Given the description of an element on the screen output the (x, y) to click on. 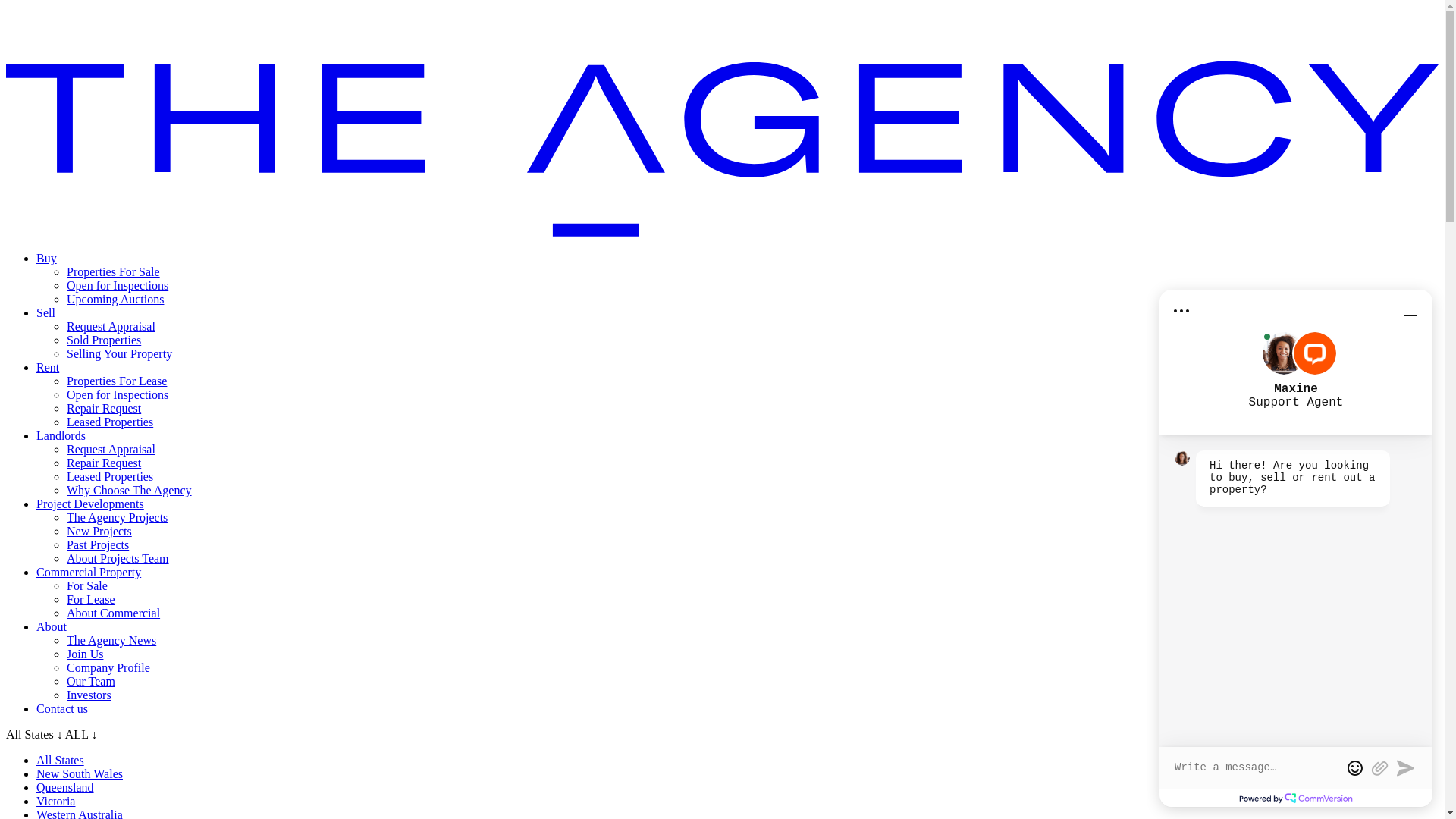
Properties For Lease Element type: text (116, 380)
For Lease Element type: text (90, 599)
The Agency Projects Element type: text (116, 517)
Queensland Element type: text (65, 787)
Past Projects Element type: text (97, 544)
Leased Properties Element type: text (109, 421)
For Sale Element type: text (86, 585)
Open for Inspections Element type: text (117, 394)
Commercial Property Element type: text (88, 571)
Properties For Sale Element type: text (113, 271)
Repair Request Element type: text (103, 462)
The Agency News Element type: text (111, 639)
Upcoming Auctions Element type: text (114, 298)
Victoria Element type: text (55, 800)
Buy Element type: text (46, 257)
New South Wales Element type: text (79, 773)
Request Appraisal Element type: text (110, 326)
About Commercial Element type: text (113, 612)
Why Choose The Agency Element type: text (128, 489)
Request Appraisal Element type: text (110, 448)
New Projects Element type: text (98, 530)
Project Developments Element type: text (90, 503)
Company Profile Element type: text (108, 667)
About Element type: text (51, 626)
Sell Element type: text (45, 312)
Selling Your Property Element type: text (119, 353)
Rent Element type: text (47, 366)
All States Element type: text (60, 759)
About Projects Team Element type: text (117, 558)
Contact us Element type: text (61, 708)
Sold Properties Element type: text (103, 339)
Leased Properties Element type: text (109, 476)
Investors Element type: text (88, 694)
Open for Inspections Element type: text (117, 285)
Repair Request Element type: text (103, 407)
Join Us Element type: text (84, 653)
Our Team Element type: text (90, 680)
Landlords Element type: text (60, 435)
